Given the description of an element on the screen output the (x, y) to click on. 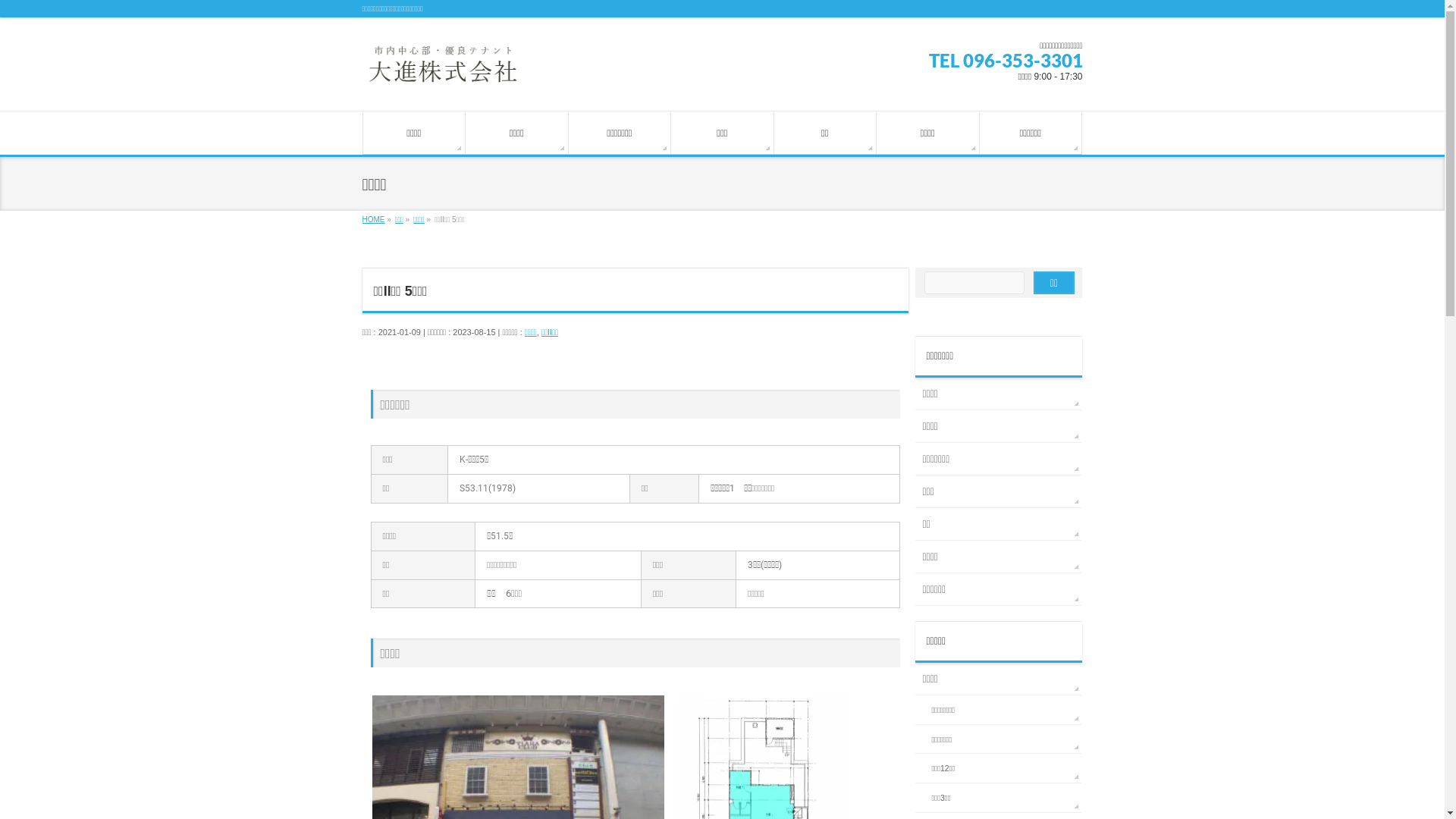
HOME Element type: text (373, 219)
